Given the description of an element on the screen output the (x, y) to click on. 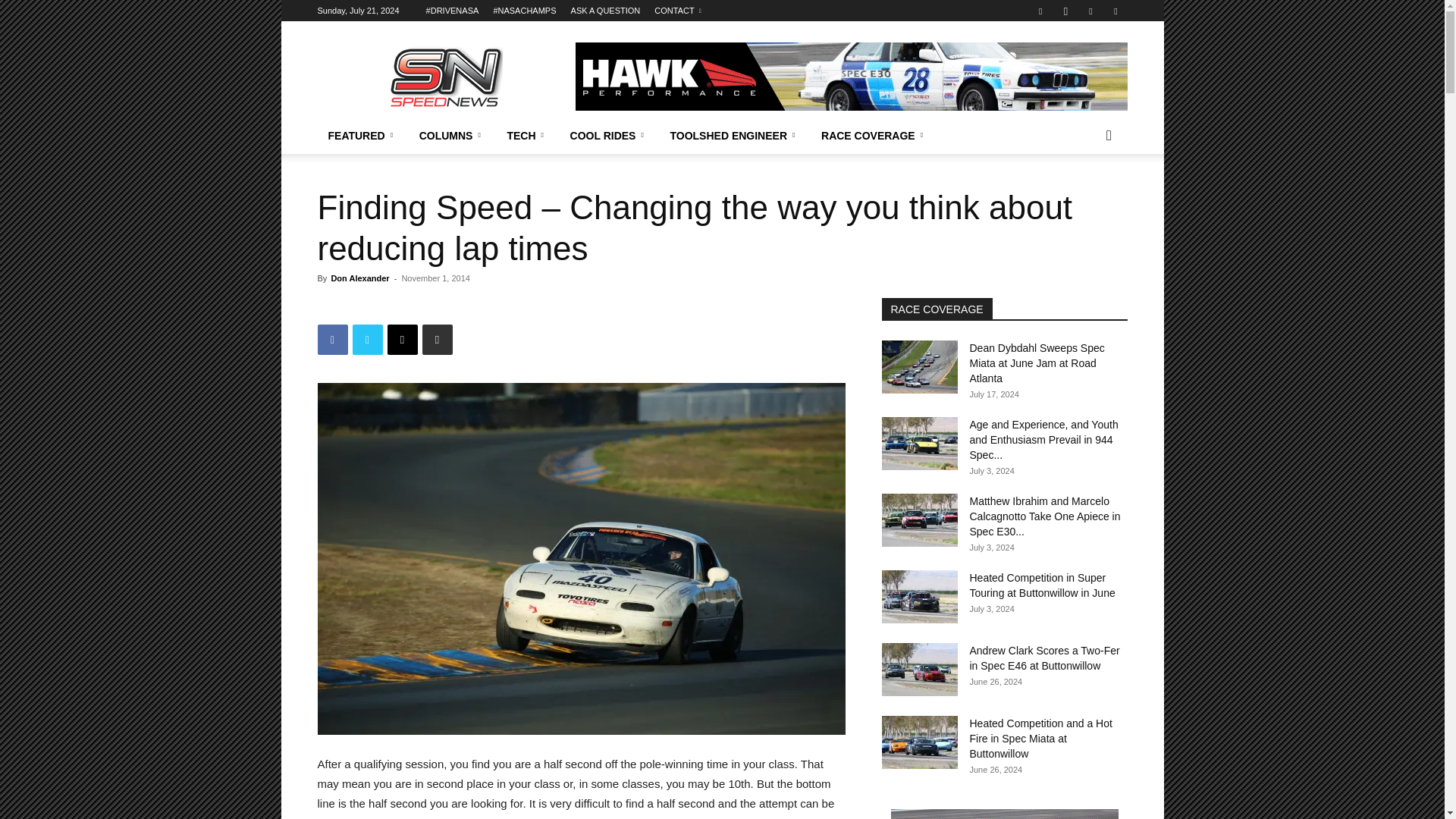
The Official Magazine of the National Auto Sport Association (445, 76)
Instagram (1065, 10)
Facebook (1040, 10)
CONTACT (676, 10)
Twitter (1090, 10)
ASK A QUESTION (605, 10)
Youtube (1114, 10)
